Given the description of an element on the screen output the (x, y) to click on. 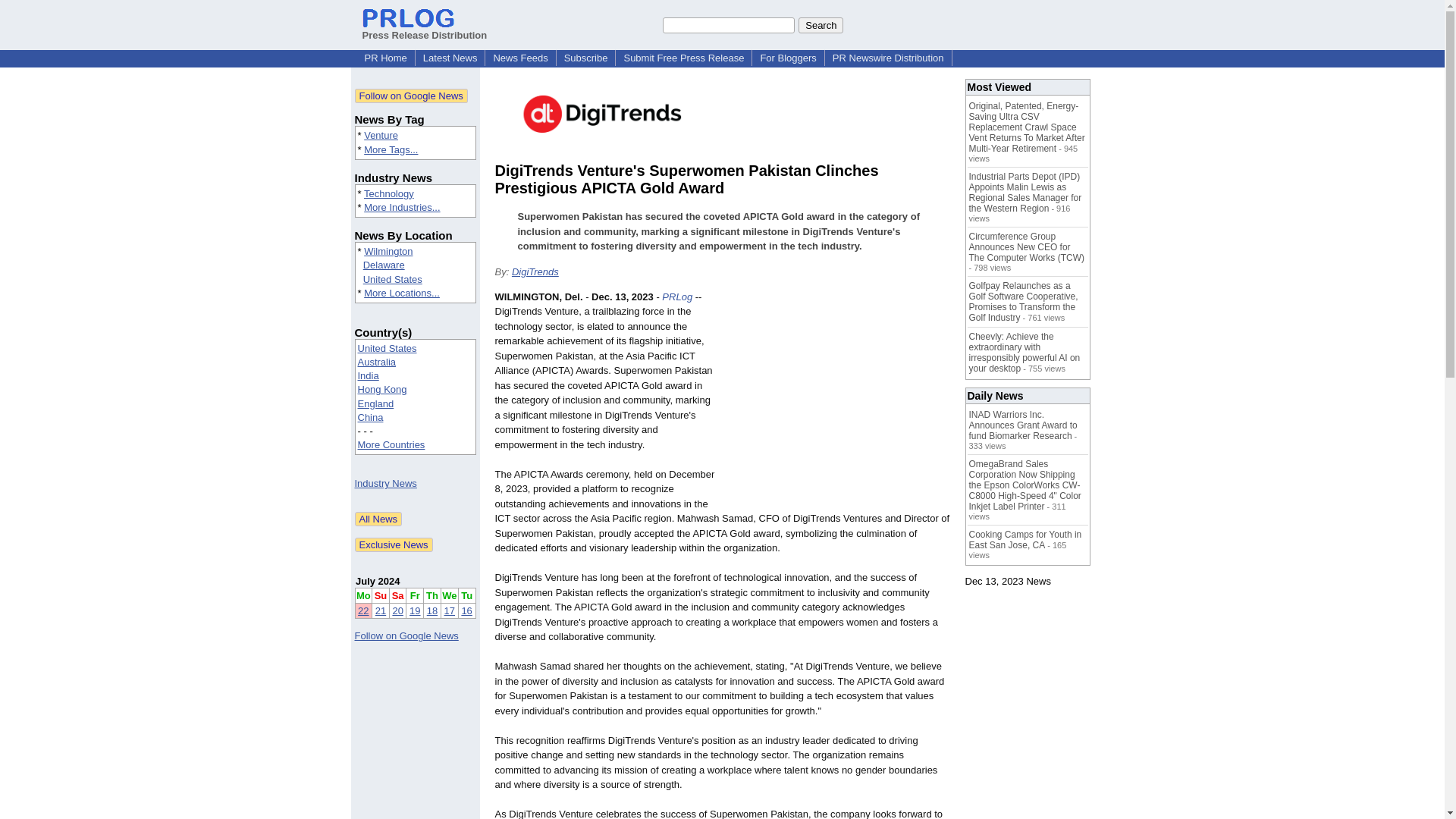
Search (820, 24)
Exclusive News (393, 544)
United States (392, 279)
22 (363, 610)
Exclusive News (393, 544)
All News (379, 518)
20 (397, 610)
Delaware (383, 265)
Advertisement (835, 401)
More Countries (391, 444)
England (376, 403)
For Bloggers (788, 57)
All News (379, 518)
21 (380, 610)
More Locations... (401, 292)
